Given the description of an element on the screen output the (x, y) to click on. 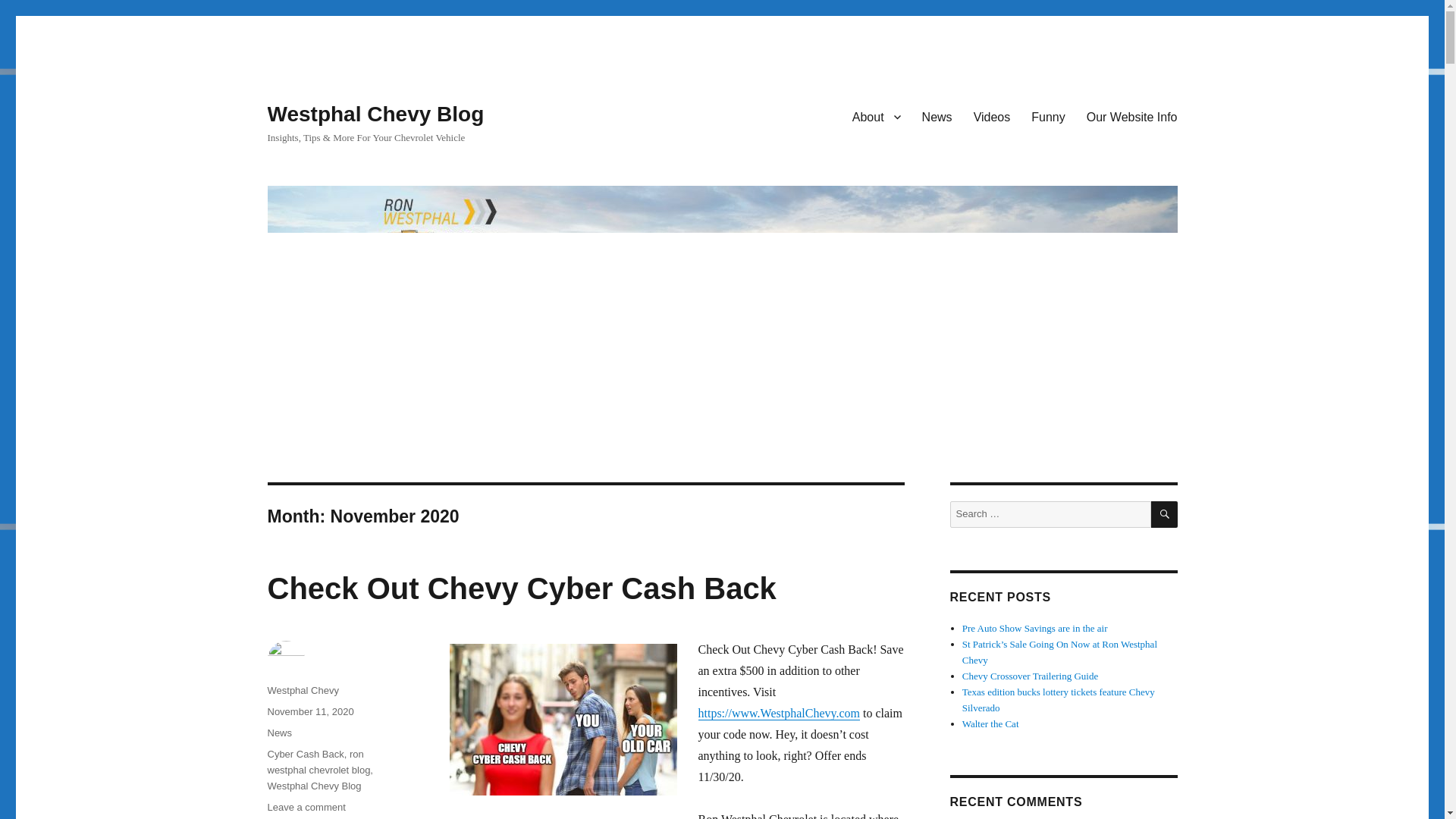
Cyber Cash Back (304, 754)
News (279, 732)
ron westphal chevrolet blog (305, 807)
News (317, 761)
November 11, 2020 (936, 116)
Check Out Chevy Cyber Cash Back (309, 711)
About (521, 588)
Funny (876, 116)
Videos (1047, 116)
Distracted-boyfriend-Ron-Westphal-Chevrolet (992, 116)
Westphal Chevy (562, 719)
Westphal Chevy Blog (301, 690)
Our Website Info (313, 785)
Westphal Chevy Blog (1131, 116)
